Given the description of an element on the screen output the (x, y) to click on. 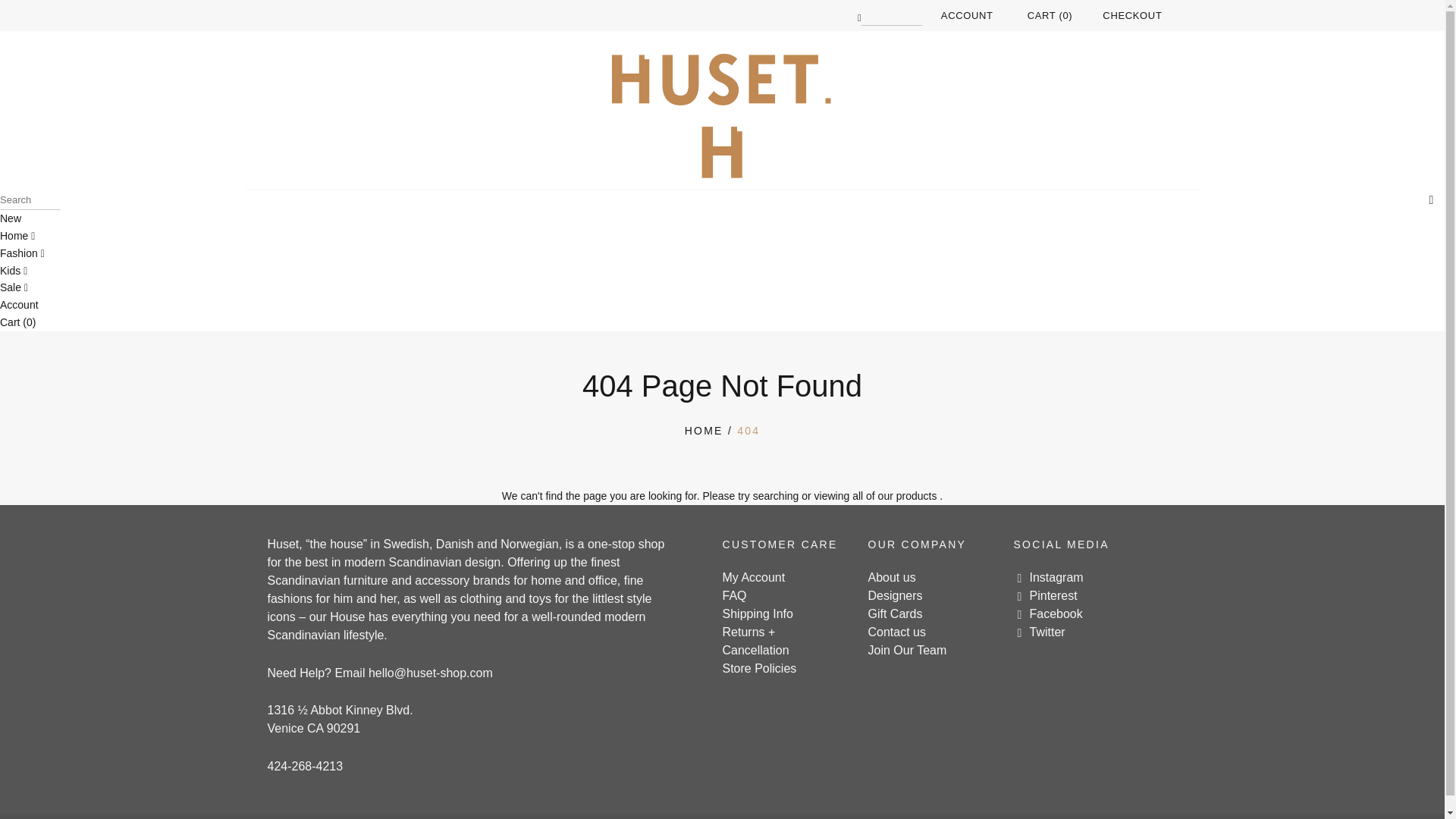
ACCOUNT (966, 15)
New (10, 218)
CHECKOUT (1131, 15)
